Given the description of an element on the screen output the (x, y) to click on. 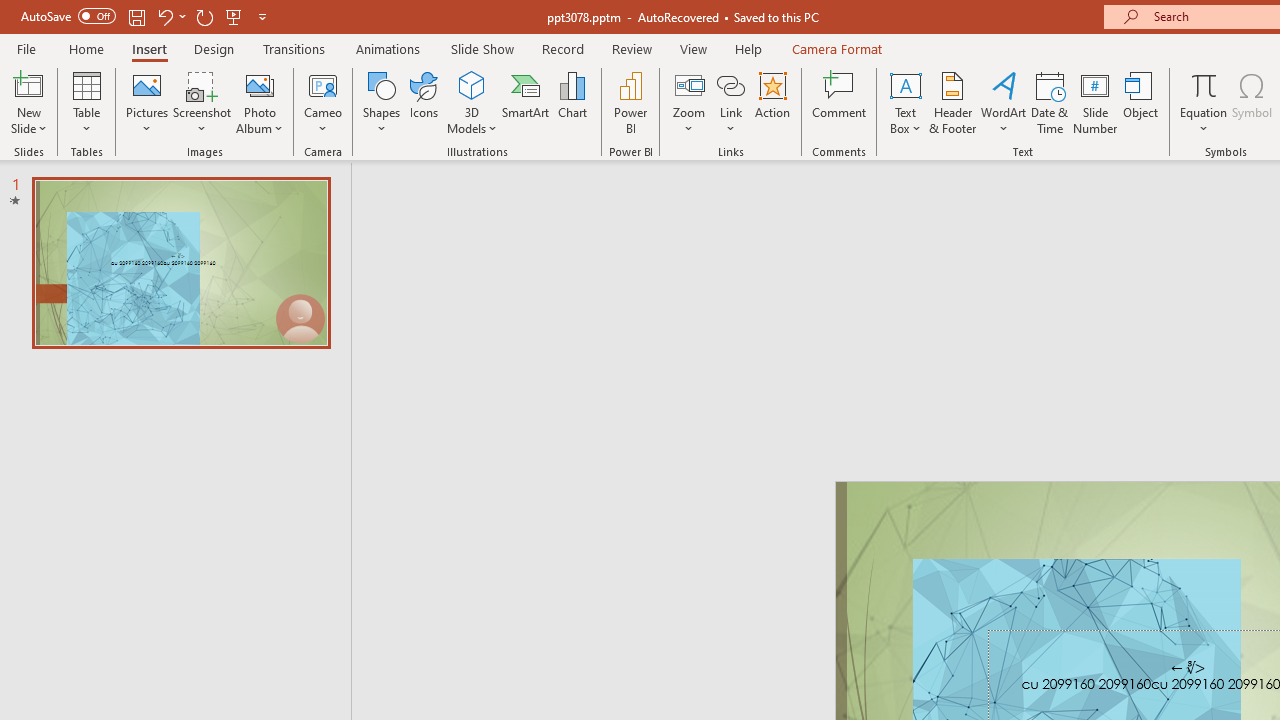
Symbol... (1252, 102)
WordArt (1004, 102)
Power BI (630, 102)
Camera Format (836, 48)
Header & Footer... (952, 102)
